Given the description of an element on the screen output the (x, y) to click on. 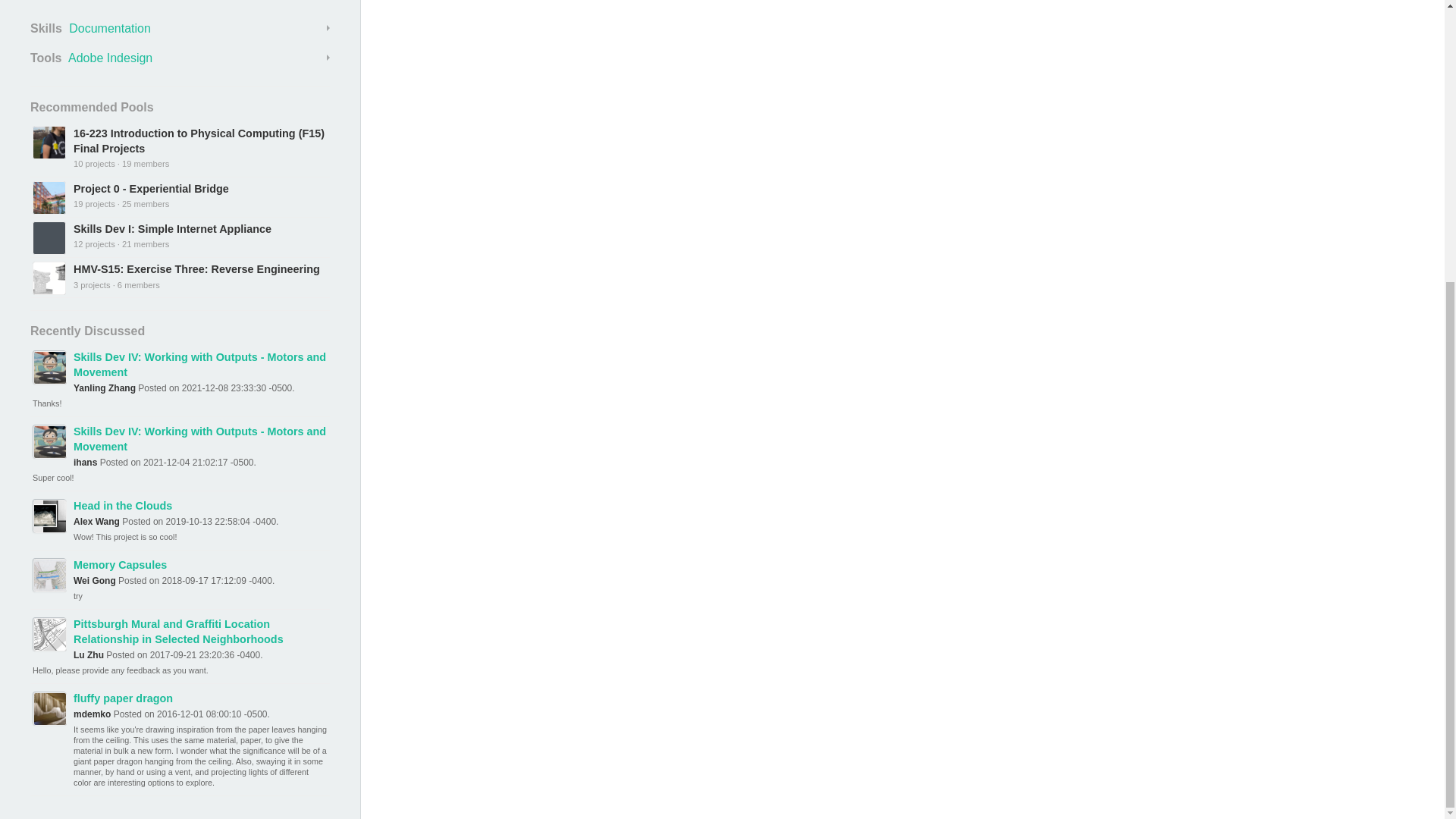
Skills Documentation (180, 28)
